Given the description of an element on the screen output the (x, y) to click on. 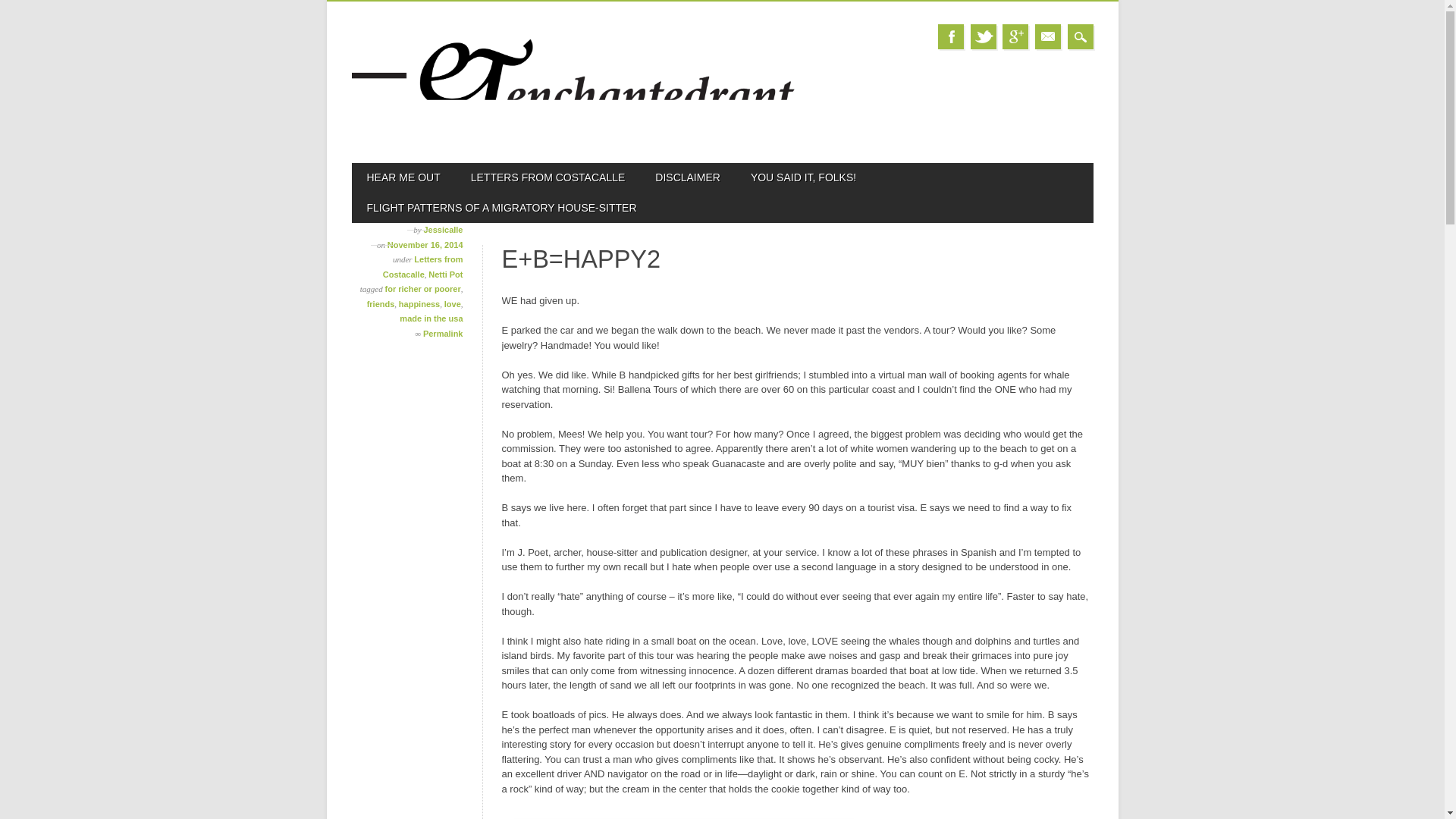
YOU SAID IT, FOLKS! (802, 177)
Enchanted Rant (574, 136)
Letters from Costacalle (422, 266)
November 16, 2014 (425, 244)
View all posts by Jessicalle (443, 229)
Permalink (443, 333)
Twitter (983, 36)
love (452, 303)
FLIGHT PATTERNS OF A MIGRATORY HOUSE-SITTER (502, 208)
happiness (418, 303)
